Given the description of an element on the screen output the (x, y) to click on. 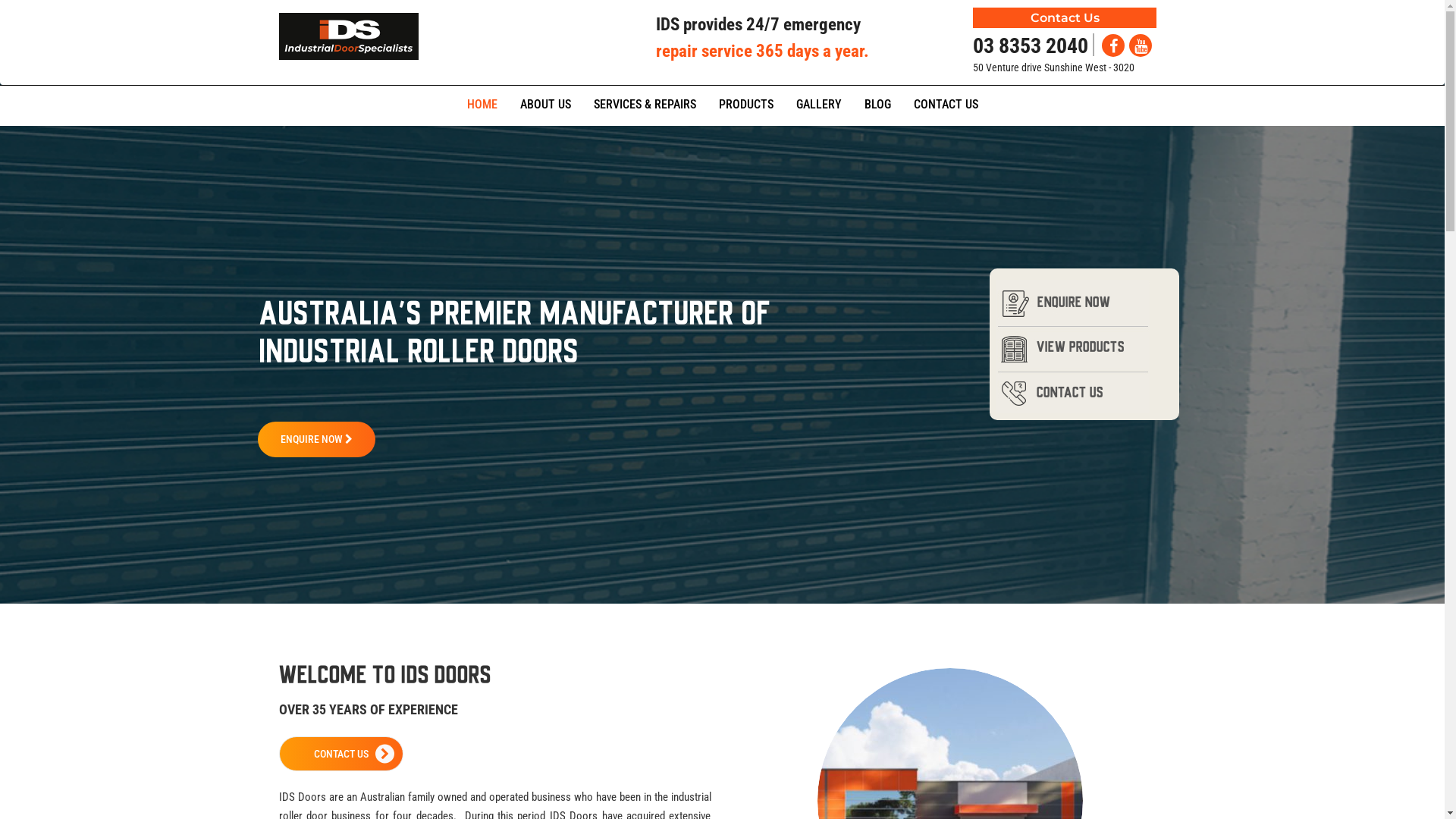
GALLERY Element type: text (818, 102)
CONTACT US Element type: text (945, 102)
ENQUIRE NOW Element type: text (1073, 303)
CONTACT US Element type: text (341, 753)
HOME Element type: text (481, 102)
BLOG Element type: text (876, 102)
ENQUIRE NOW Element type: text (316, 439)
ABOUT US Element type: text (544, 102)
CONTACT US Element type: text (1069, 394)
03 8353 2040 Element type: text (1032, 45)
Contact Us Element type: text (1064, 17)
VIEW PRODUCTS Element type: text (1080, 348)
PRODUCTS Element type: text (745, 102)
SERVICES & REPAIRS Element type: text (644, 102)
